Given the description of an element on the screen output the (x, y) to click on. 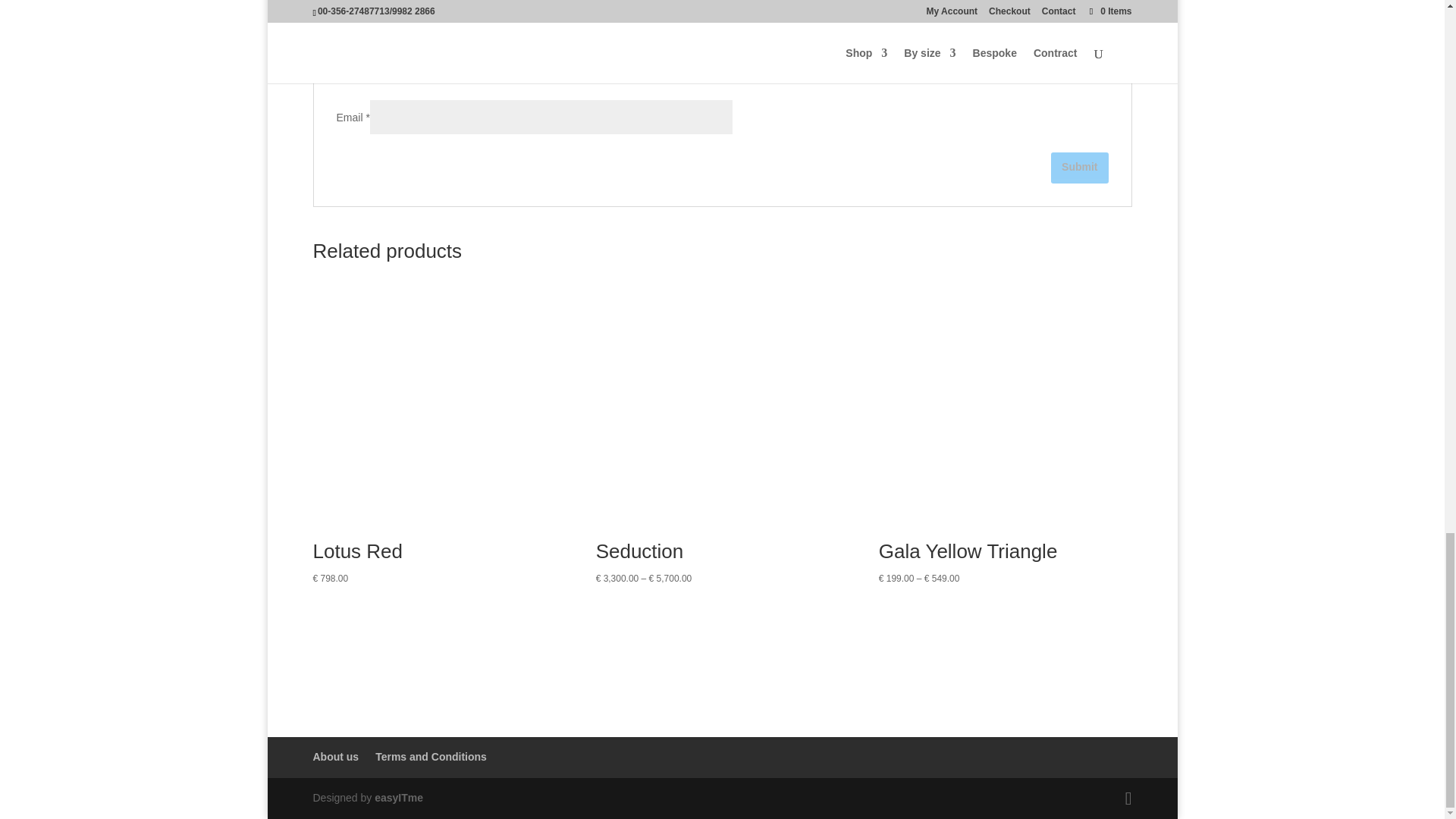
Submit (1079, 167)
